Given the description of an element on the screen output the (x, y) to click on. 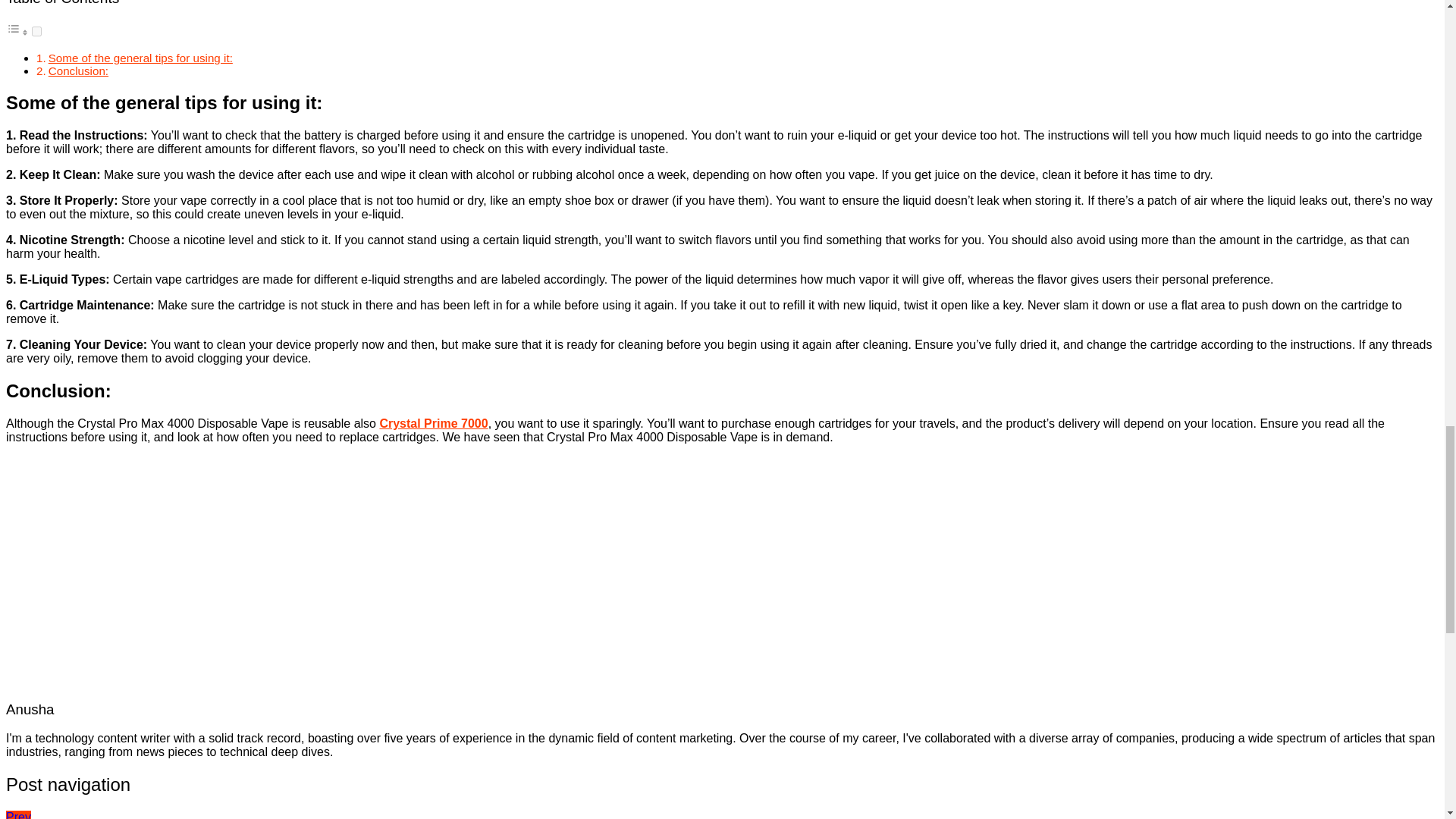
Some of the general tips for using it: (140, 57)
Conclusion: (77, 70)
on (37, 31)
